Given the description of an element on the screen output the (x, y) to click on. 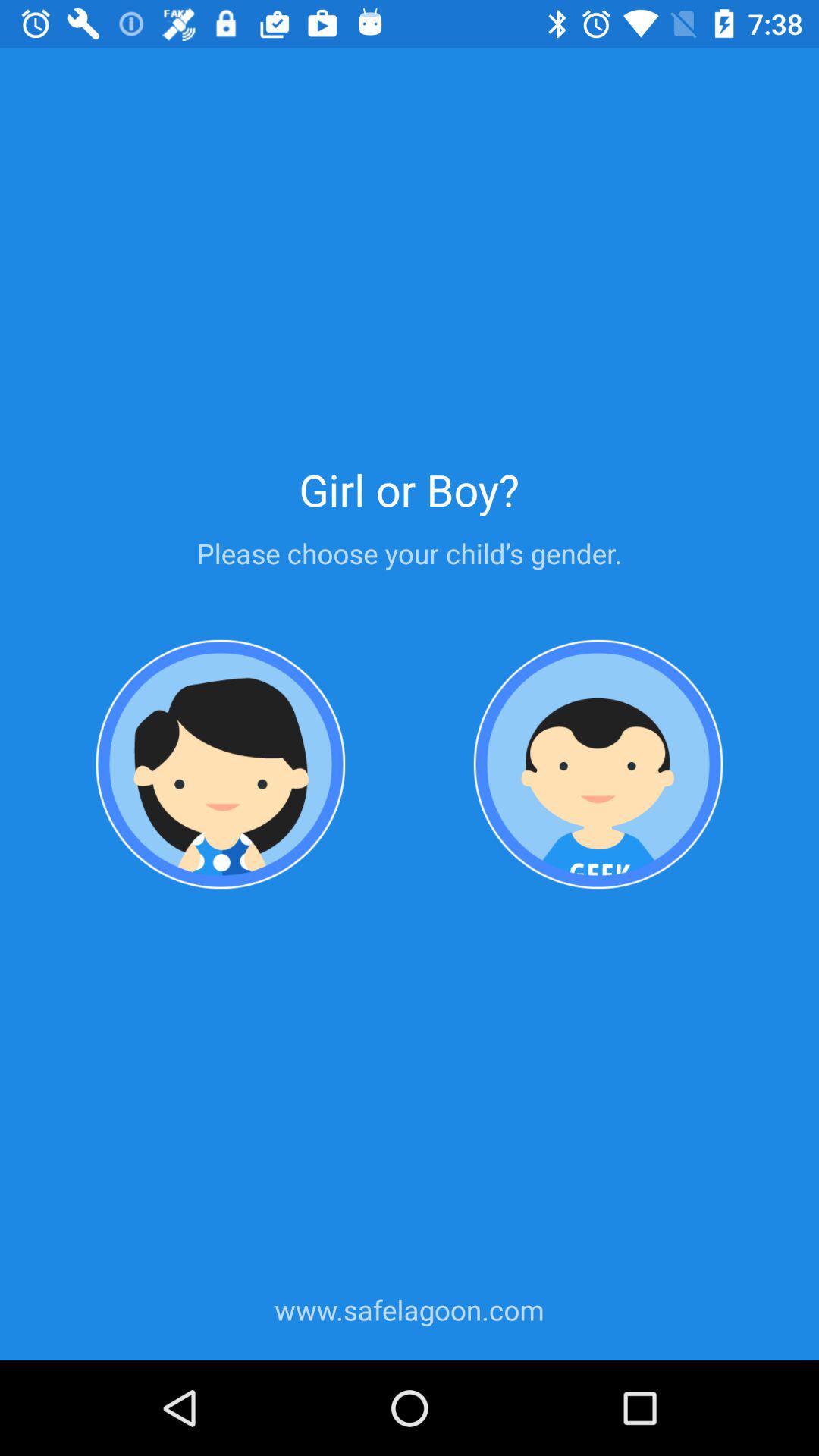
pick female (220, 765)
